Given the description of an element on the screen output the (x, y) to click on. 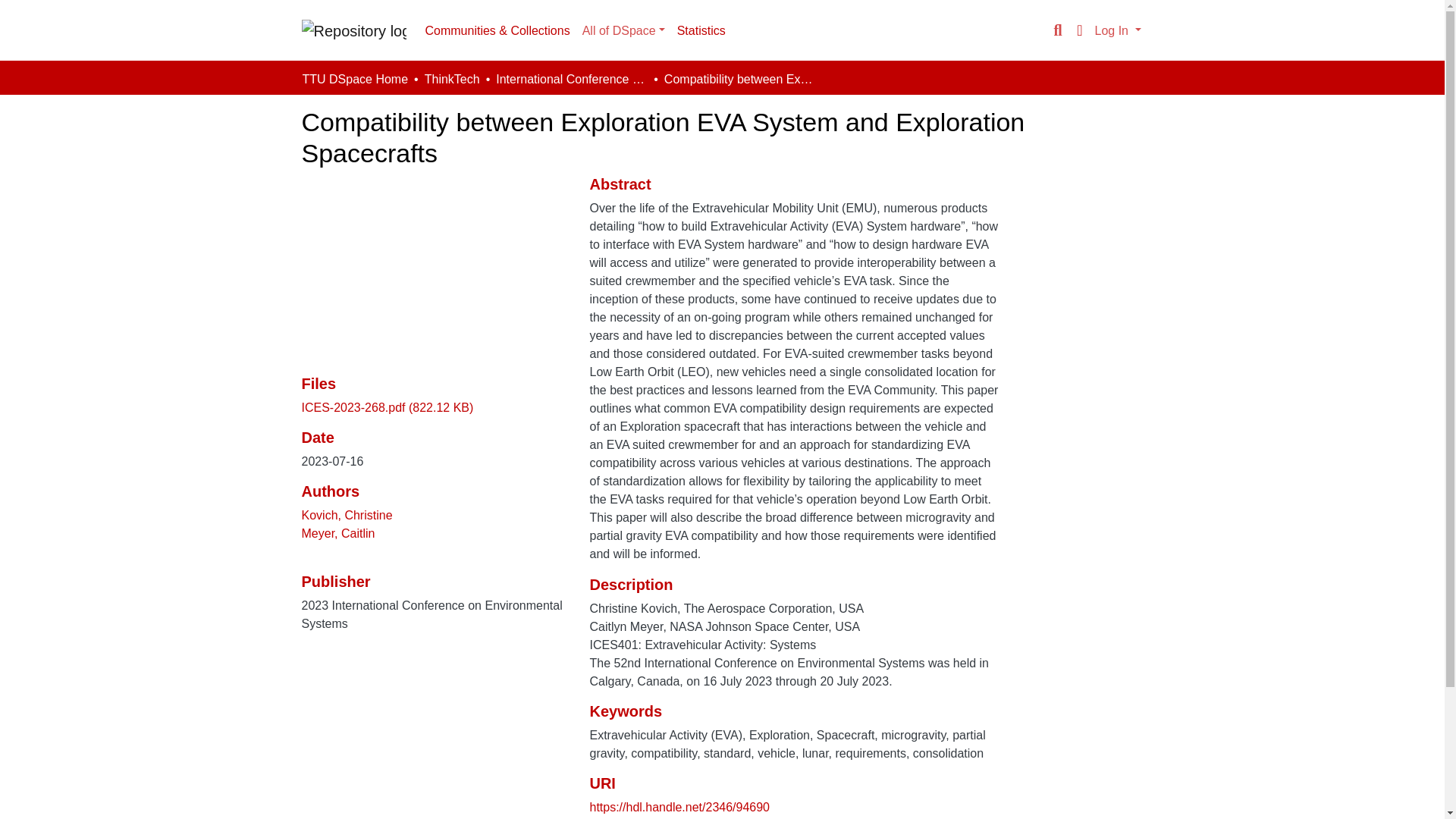
Language switch (1079, 30)
All of DSpace (623, 30)
Log In (1117, 30)
Statistics (701, 30)
ThinkTech (452, 79)
Kovich, Christine (347, 514)
Meyer, Caitlin (338, 533)
Statistics (701, 30)
International Conference on Environmental Systems (571, 79)
TTU DSpace Home (354, 79)
